Given the description of an element on the screen output the (x, y) to click on. 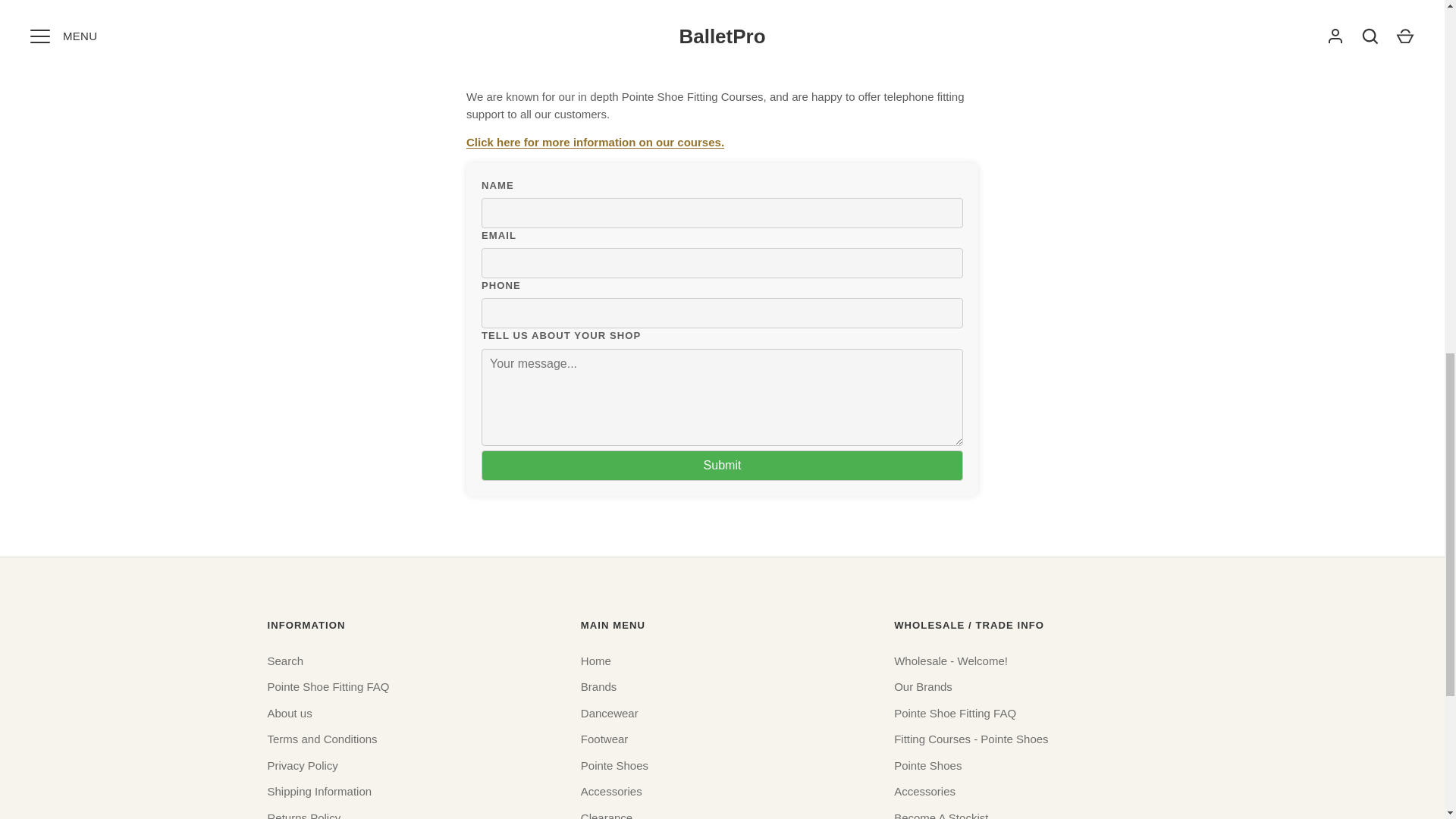
Submit (721, 465)
